Given the description of an element on the screen output the (x, y) to click on. 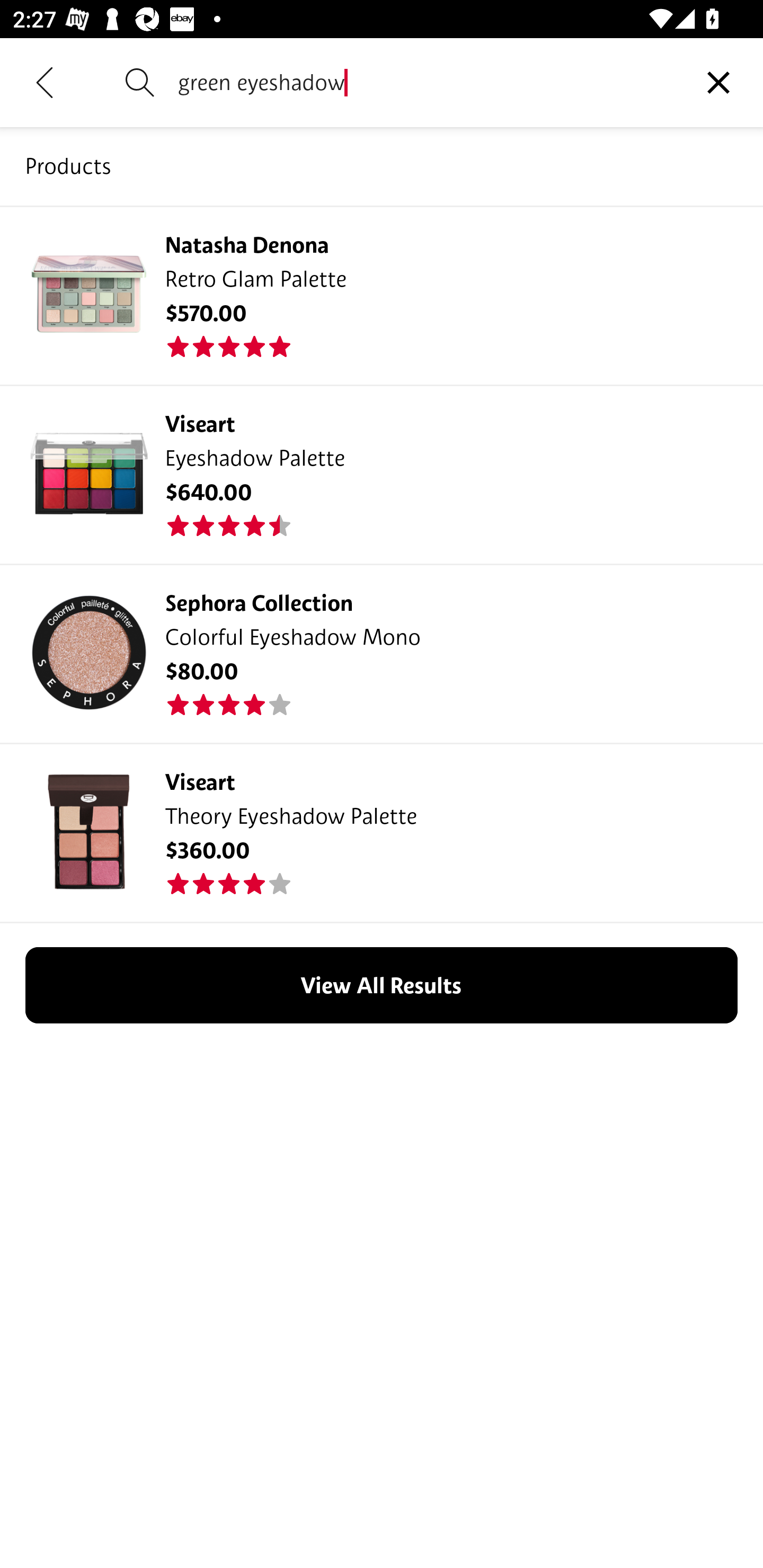
Navigate up (44, 82)
Clear query (718, 81)
green eyeshadow (425, 82)
Product Image Viseart Eyeshadow Palette $640.00 (381, 473)
View All Results (381, 985)
